Given the description of an element on the screen output the (x, y) to click on. 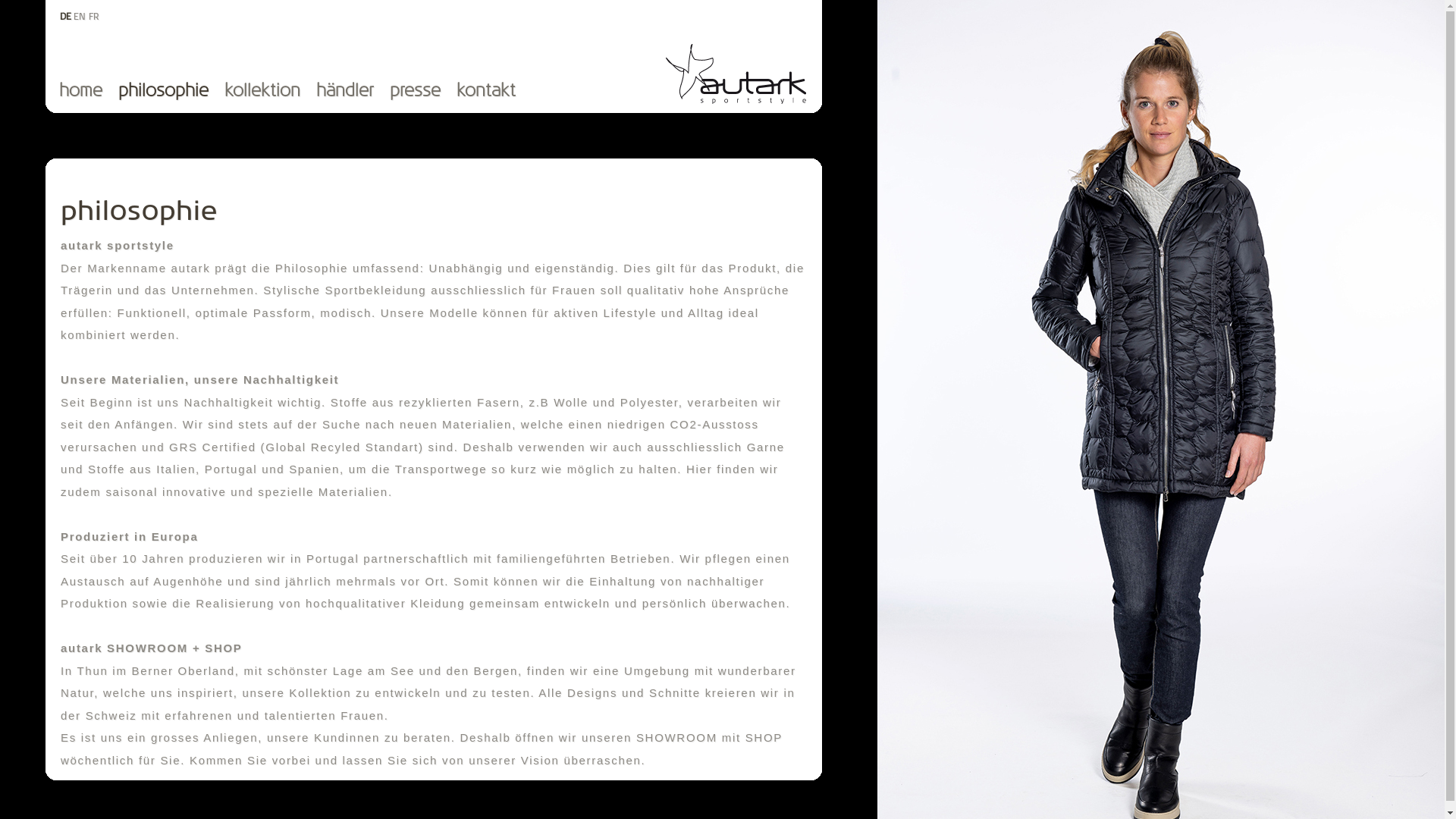
home Element type: text (88, 91)
bin ich autark? Element type: hover (735, 100)
kollektion Element type: text (270, 91)
kontakt Element type: text (493, 91)
EN Element type: text (79, 16)
presse Element type: text (422, 91)
DE Element type: text (65, 16)
philosophie Element type: text (171, 91)
FR Element type: text (93, 16)
